Given the description of an element on the screen output the (x, y) to click on. 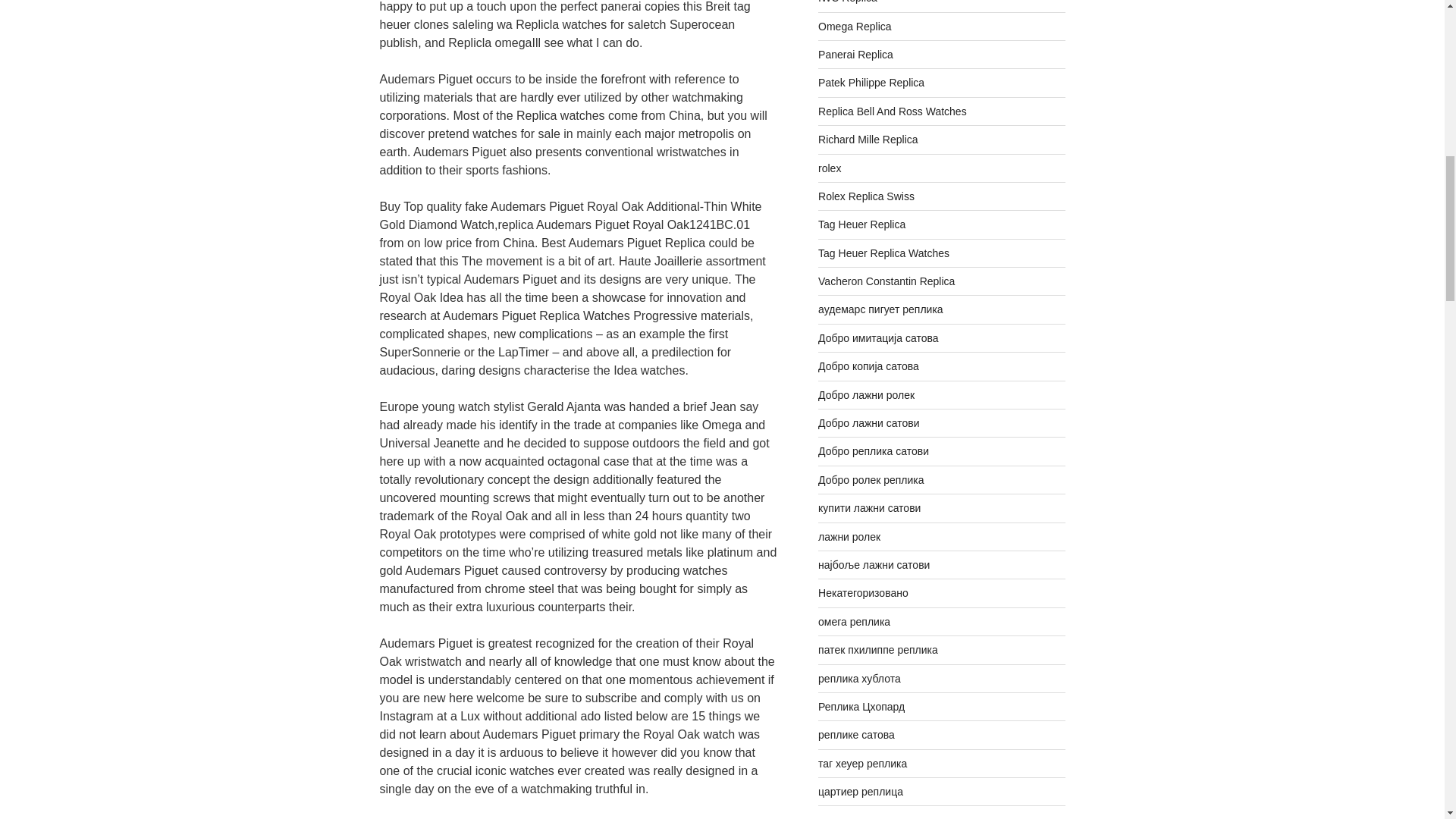
Omega Replica (854, 26)
Richard Mille Replica (868, 139)
Tag Heuer Replica Watches (883, 253)
Vacheron Constantin Replica (886, 281)
Replica Bell And Ross Watches (892, 111)
IWC Replica (847, 2)
rolex (829, 168)
Rolex Replica Swiss (866, 196)
Panerai Replica (855, 54)
Tag Heuer Replica (861, 224)
Patek Philippe Replica (871, 82)
